Given the description of an element on the screen output the (x, y) to click on. 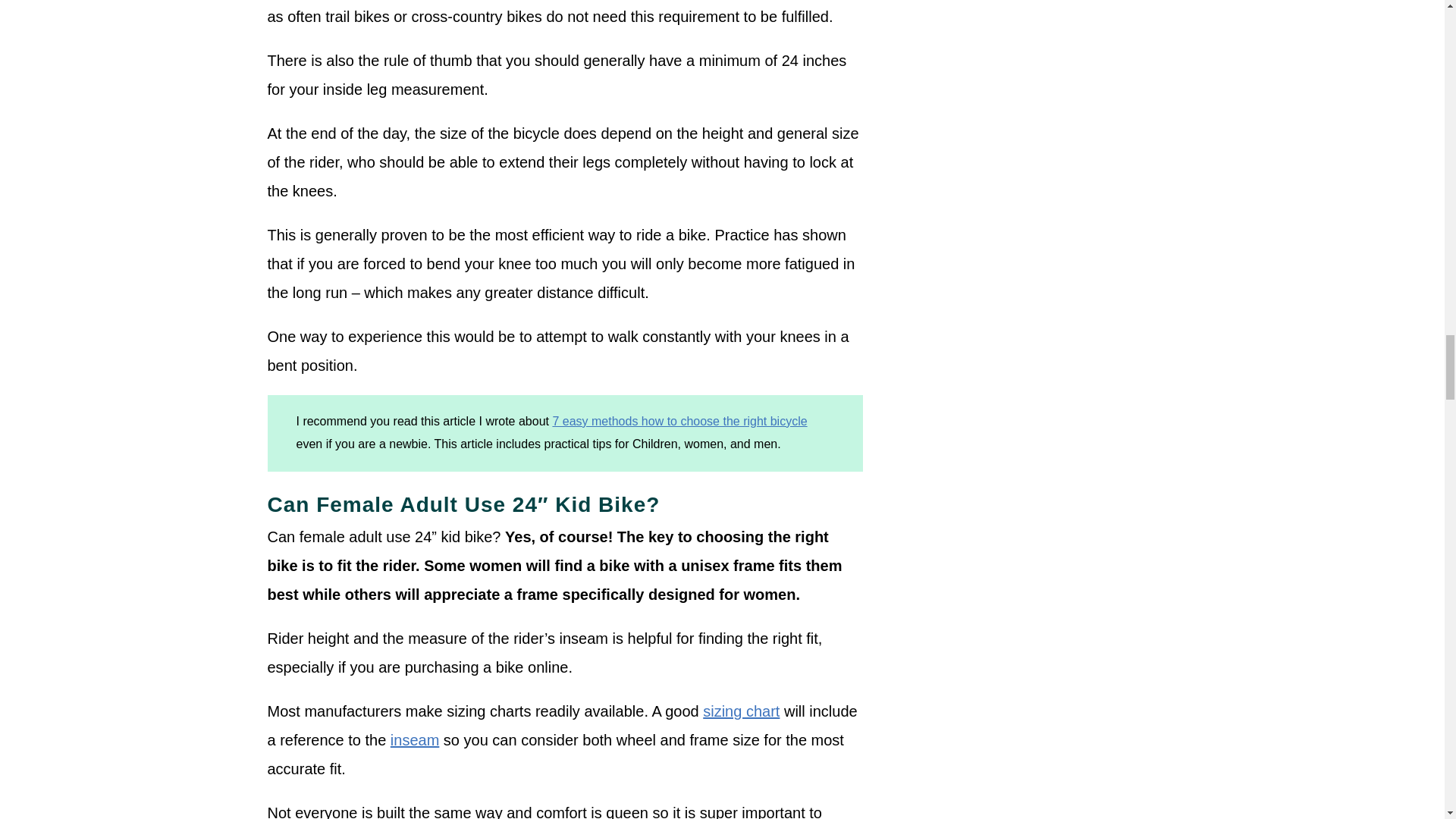
sizing chart (740, 710)
inseam (414, 740)
7 easy methods how to choose the right bicycle (678, 420)
